Given the description of an element on the screen output the (x, y) to click on. 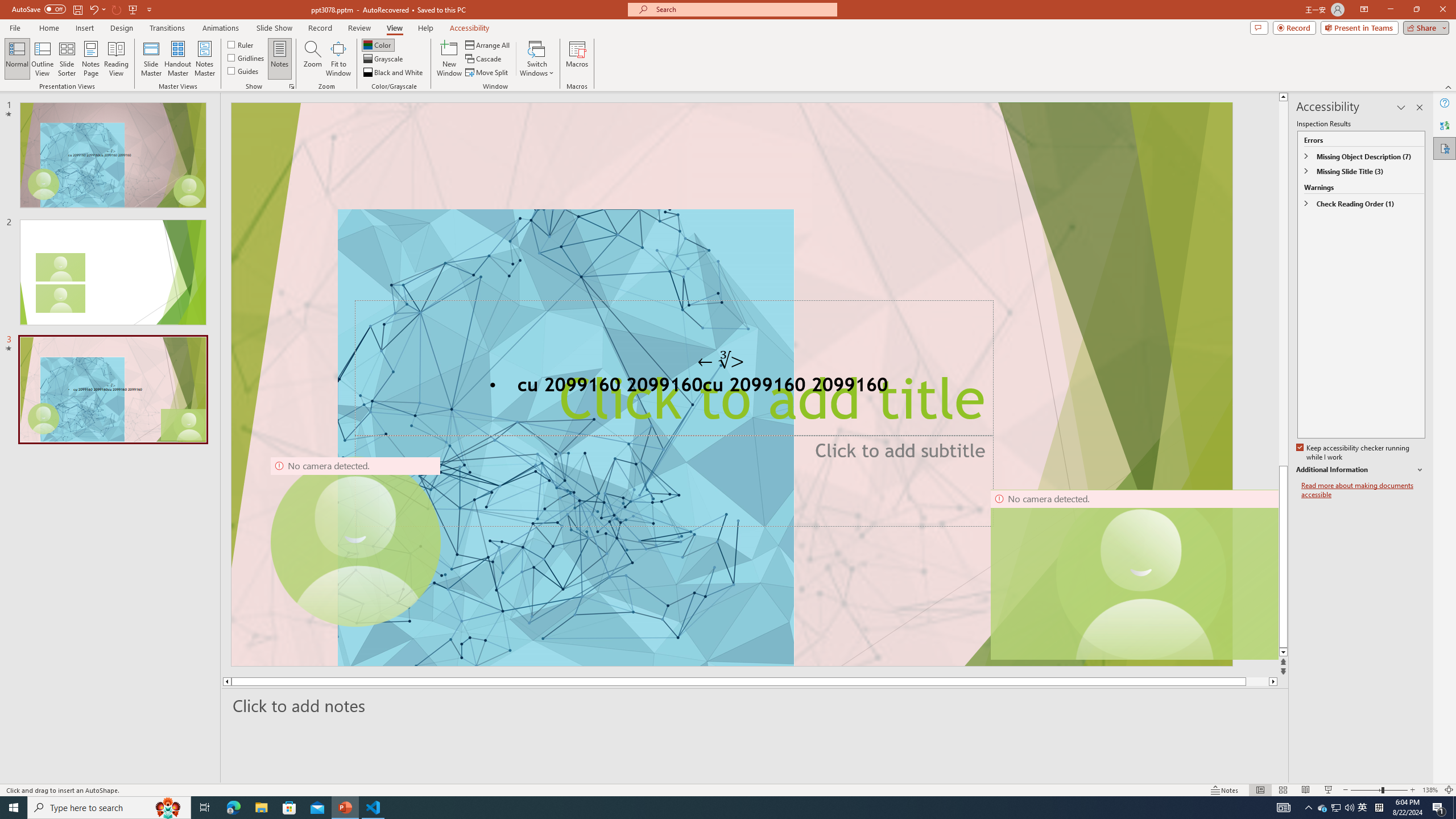
Subtitle TextBox (673, 480)
Arrange All (488, 44)
TextBox 7 (720, 360)
Read more about making documents accessible (1363, 489)
Camera 14, No camera detected. (1134, 574)
Grayscale (383, 58)
